Given the description of an element on the screen output the (x, y) to click on. 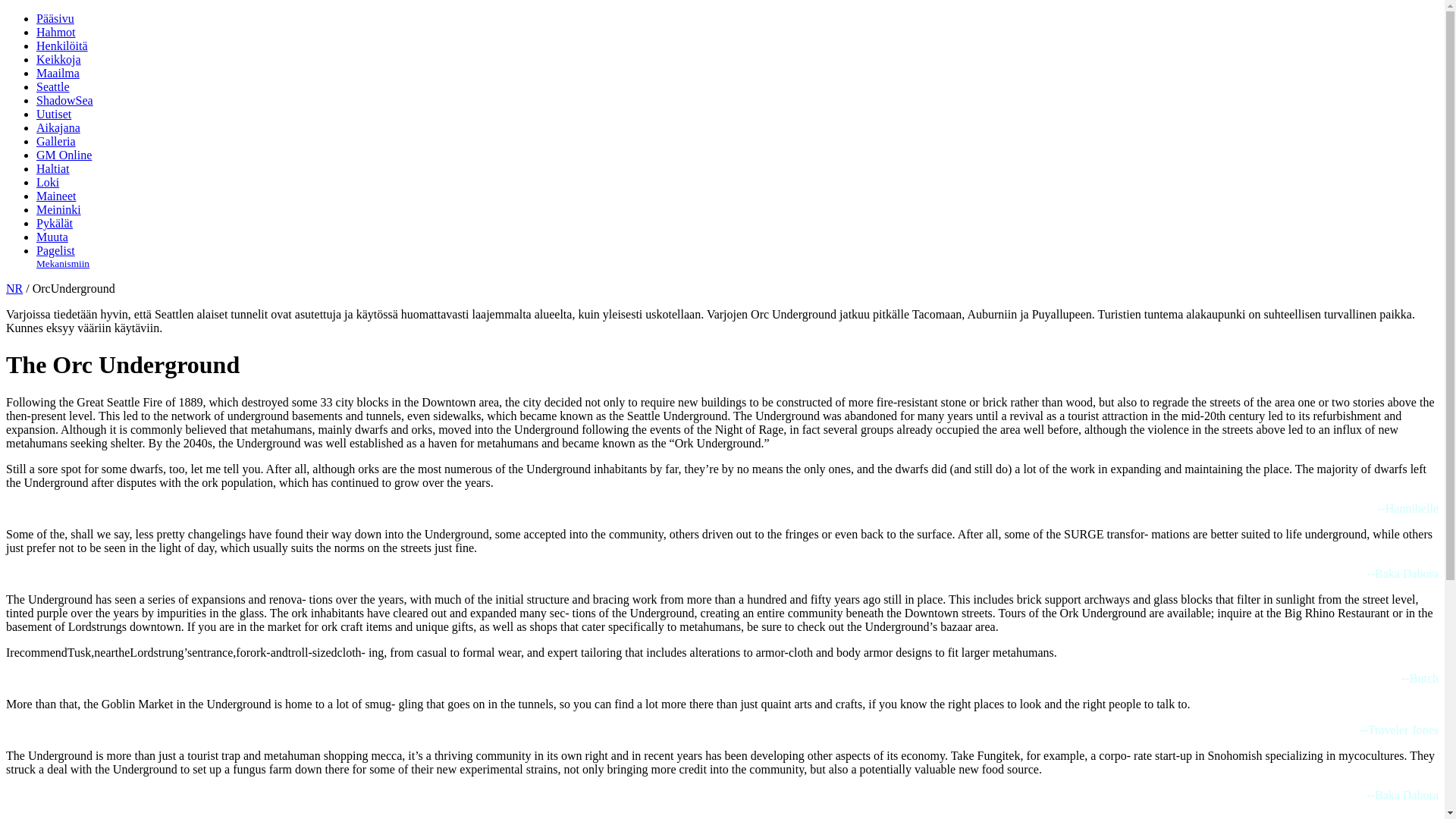
Hahmot (55, 31)
Pagelist (55, 250)
Maailma (58, 72)
Maineet (55, 195)
Meininki (58, 209)
GM Online (63, 154)
ShadowSea (64, 100)
Haltiat (52, 168)
Keikkoja (58, 59)
NR (14, 287)
Seattle (52, 86)
Mekanismiin (62, 263)
Muuta (52, 236)
Galleria (55, 141)
Loki (47, 182)
